Given the description of an element on the screen output the (x, y) to click on. 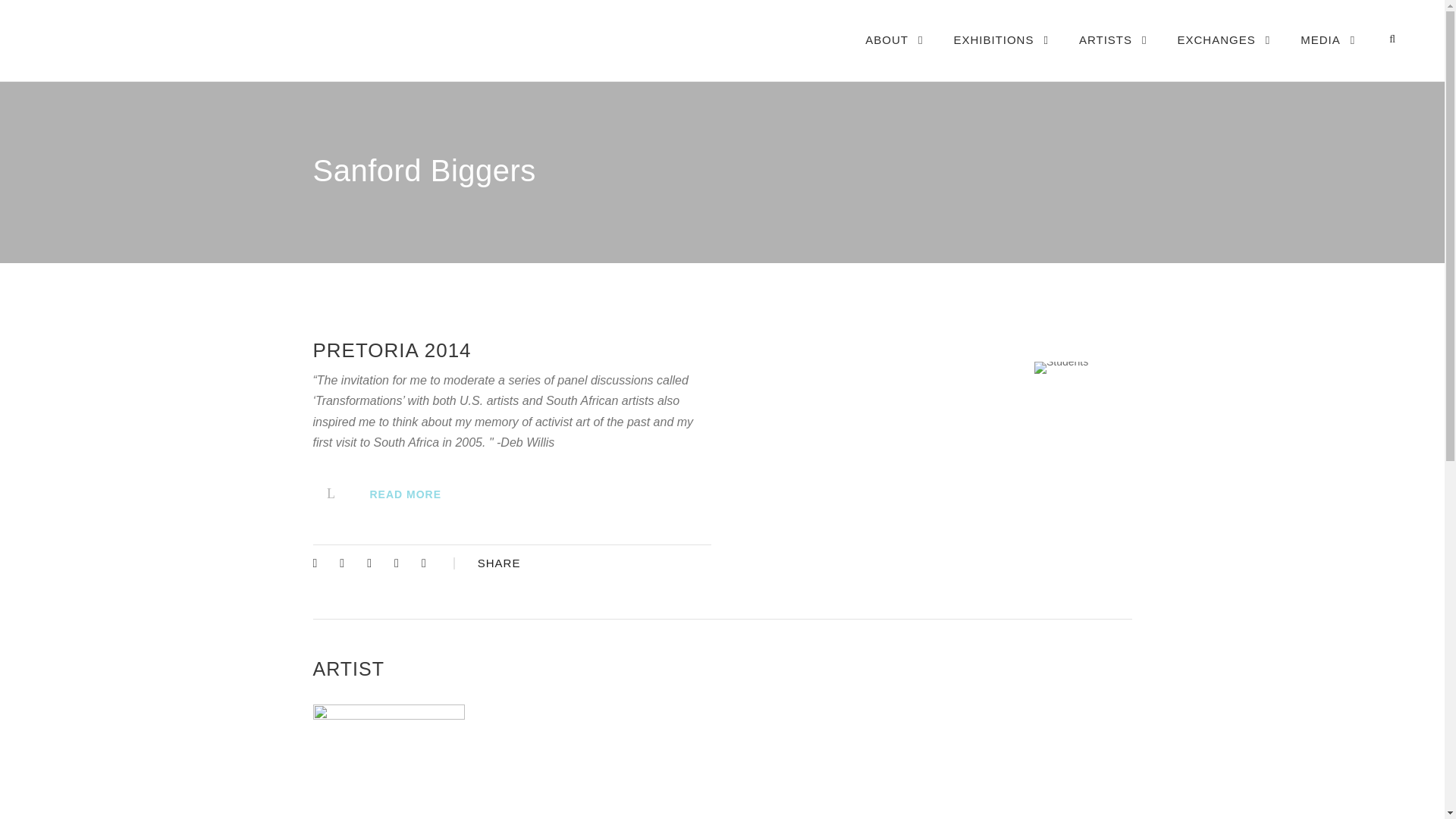
ABOUT (893, 55)
aie logo3 (188, 38)
